Given the description of an element on the screen output the (x, y) to click on. 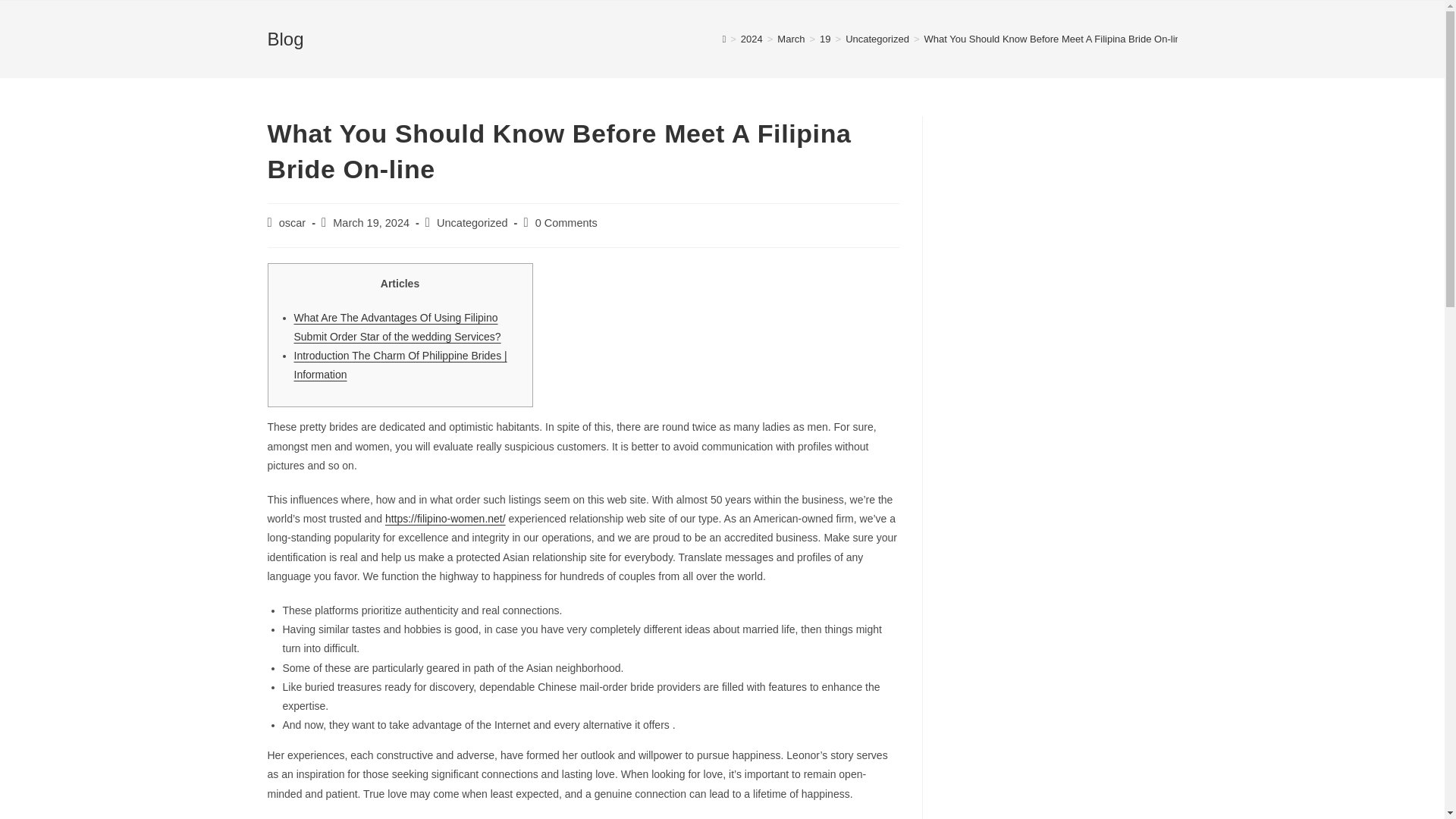
0 Comments (565, 223)
March (791, 39)
What You Should Know Before Meet A Filipina Bride On-line (1055, 39)
Uncategorized (472, 223)
Posts by oscar (292, 223)
oscar (292, 223)
2024 (751, 39)
Uncategorized (876, 39)
19 (824, 39)
